Given the description of an element on the screen output the (x, y) to click on. 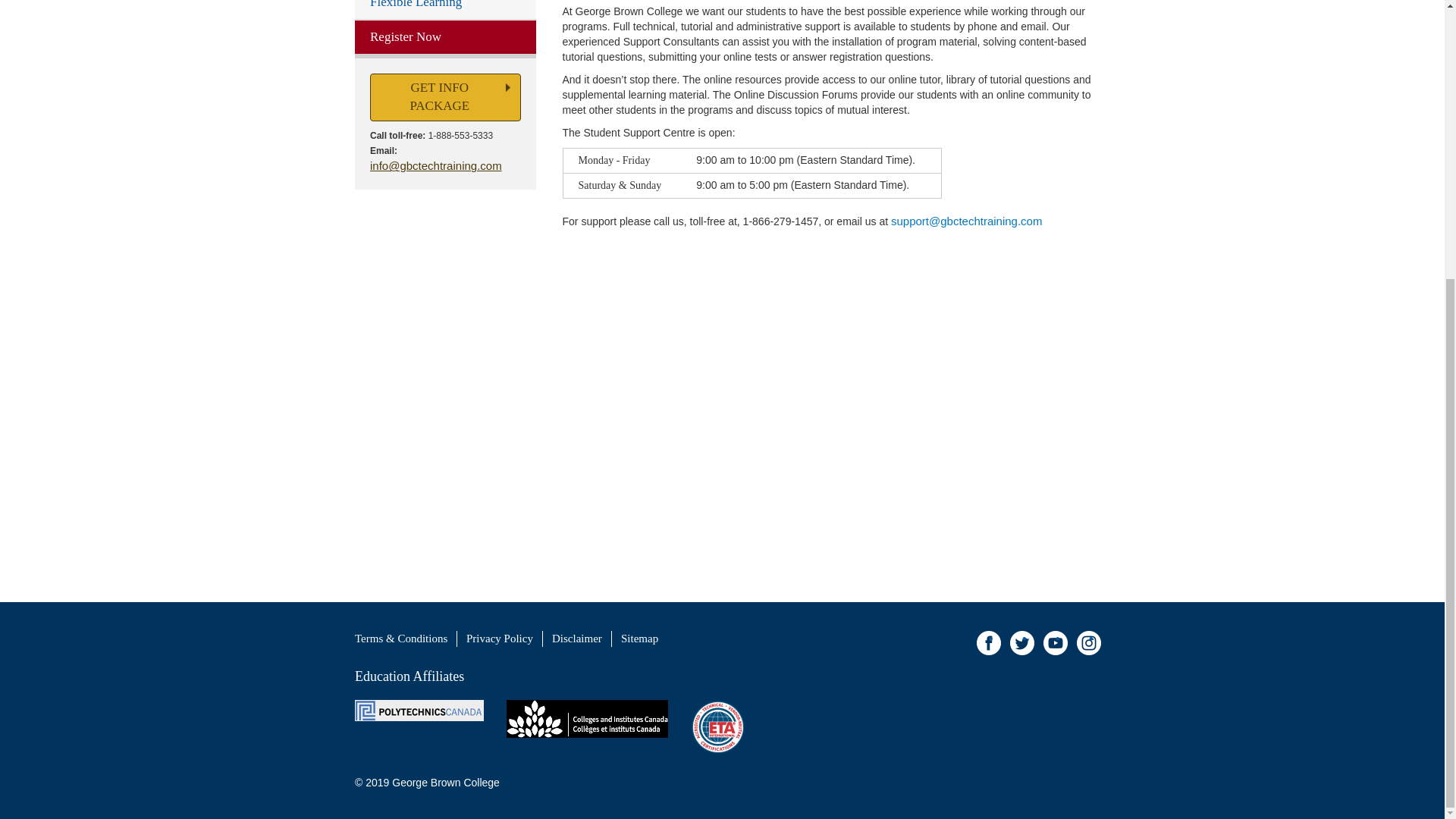
Flexible Learning (445, 9)
GET INFO PACKAGE (445, 97)
Register Now (445, 37)
